Given the description of an element on the screen output the (x, y) to click on. 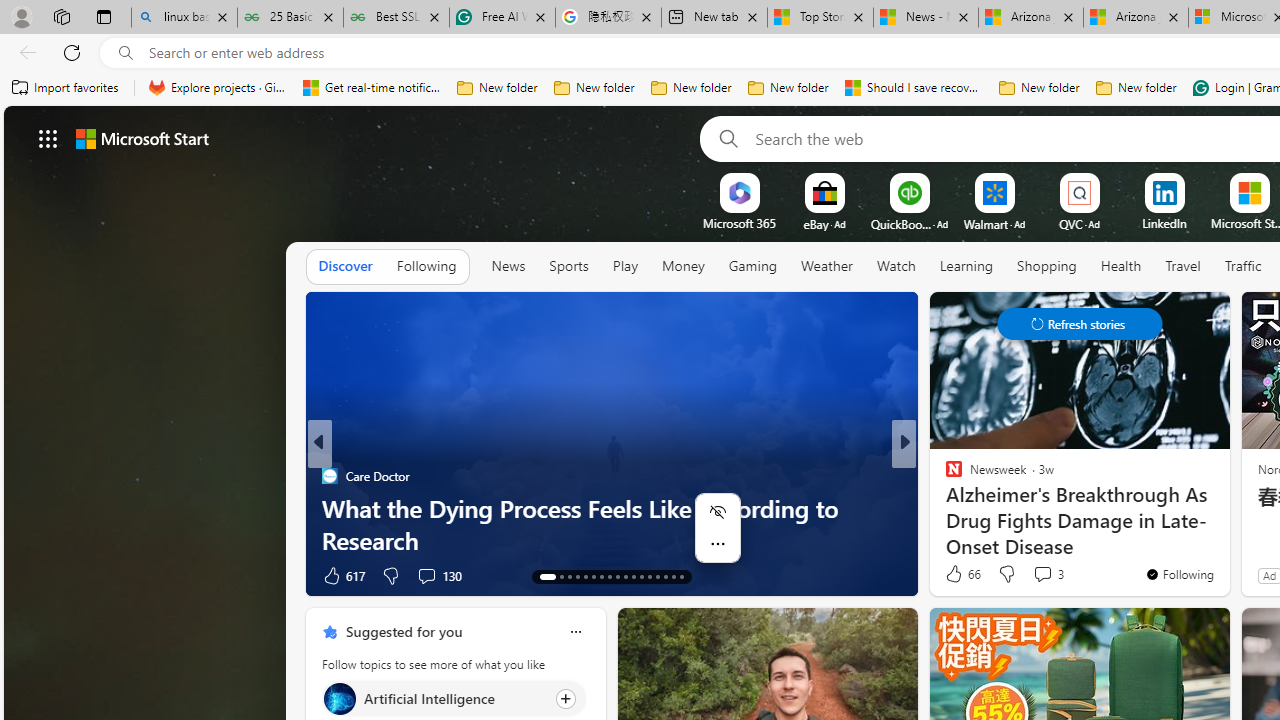
linux basic - Search (183, 17)
AutomationID: tab-21 (617, 576)
LinkedIn (1163, 223)
Click to follow topic Artificial Intelligence (453, 698)
Mini menu on text selection (717, 539)
AutomationID: tab-22 (624, 576)
View comments 2 Comment (1036, 575)
